Given the description of an element on the screen output the (x, y) to click on. 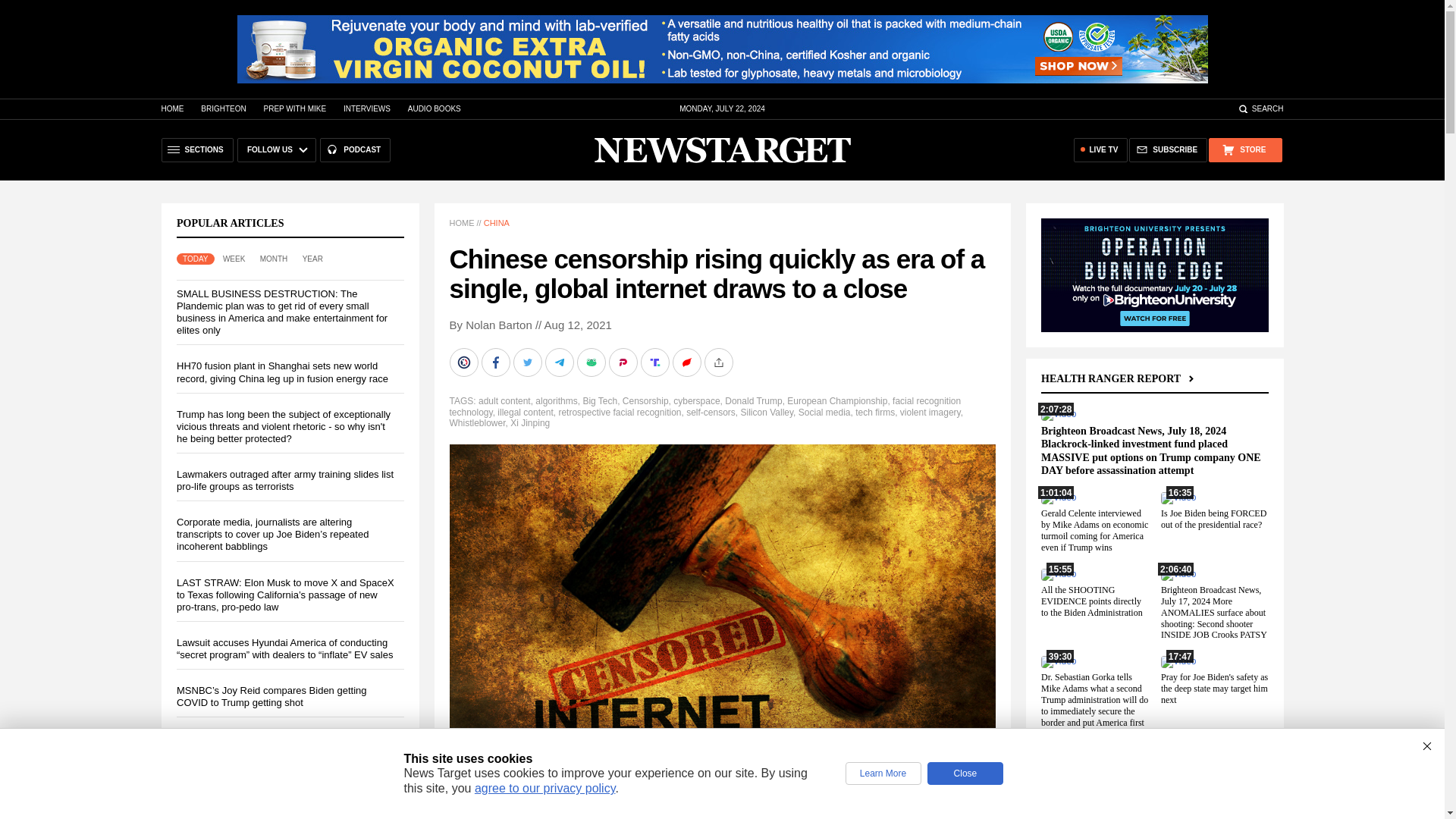
Share on Facebook (496, 362)
Share on Brighteon.Social (464, 362)
Search (1260, 108)
Share on Truth.Social (655, 362)
BRIGHTEON (223, 108)
SUBSCRIBE (1168, 150)
Share on Telegram (560, 362)
Share on Gettr (687, 362)
PREP WITH MIKE (294, 108)
CNN admits Trump on course for landslide win (277, 737)
AUDIO BOOKS (434, 108)
